Given the description of an element on the screen output the (x, y) to click on. 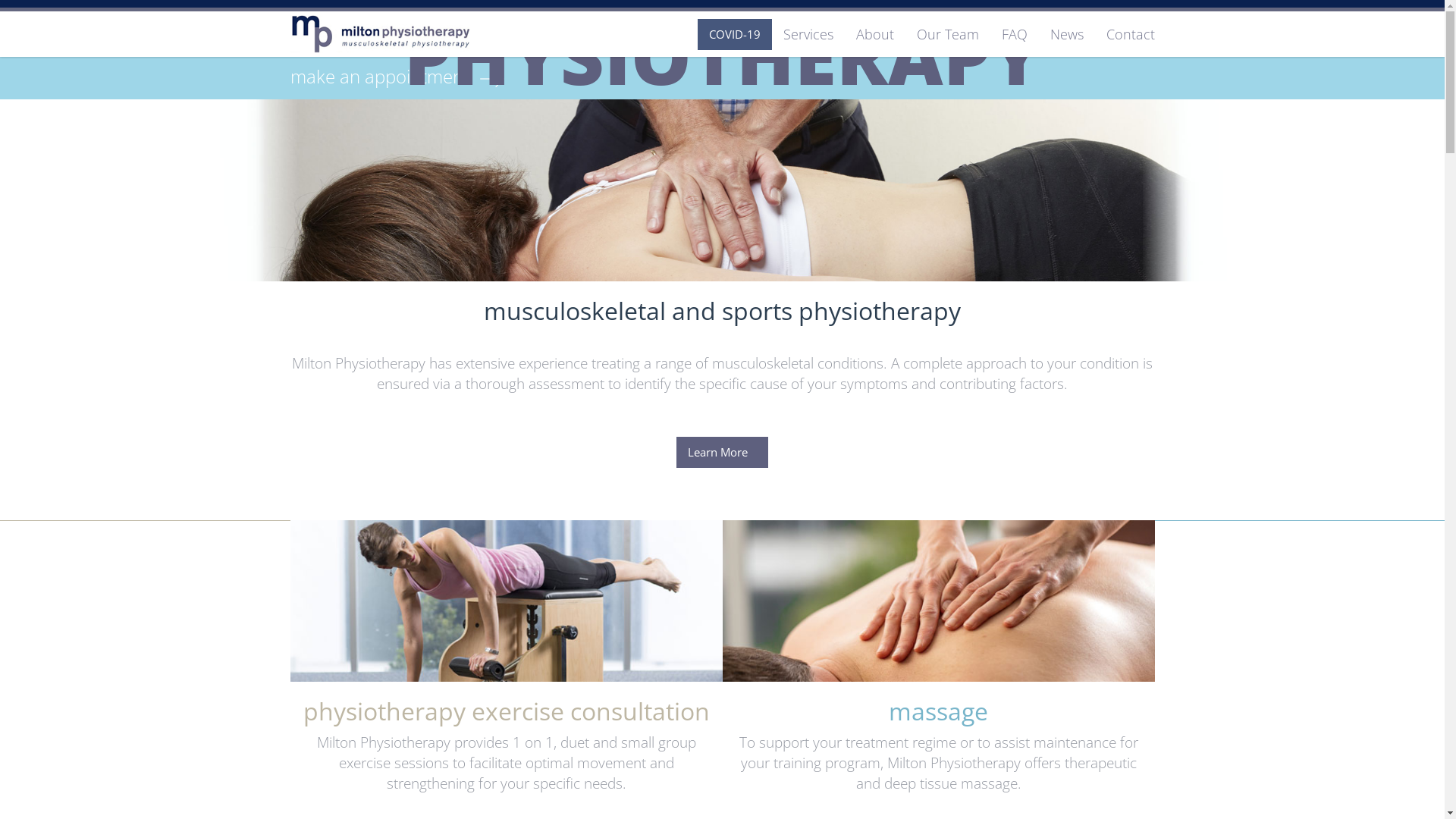
Learn More    Element type: text (722, 451)
Contact Element type: text (1130, 33)
News Element type: text (1066, 33)
Services Element type: text (807, 33)
make an appointment  Element type: text (396, 78)
COVID-19 Element type: text (734, 30)
About Element type: text (874, 33)
FAQ Element type: text (1014, 33)
Our Team Element type: text (947, 33)
Learn More Element type: text (722, 192)
